Given the description of an element on the screen output the (x, y) to click on. 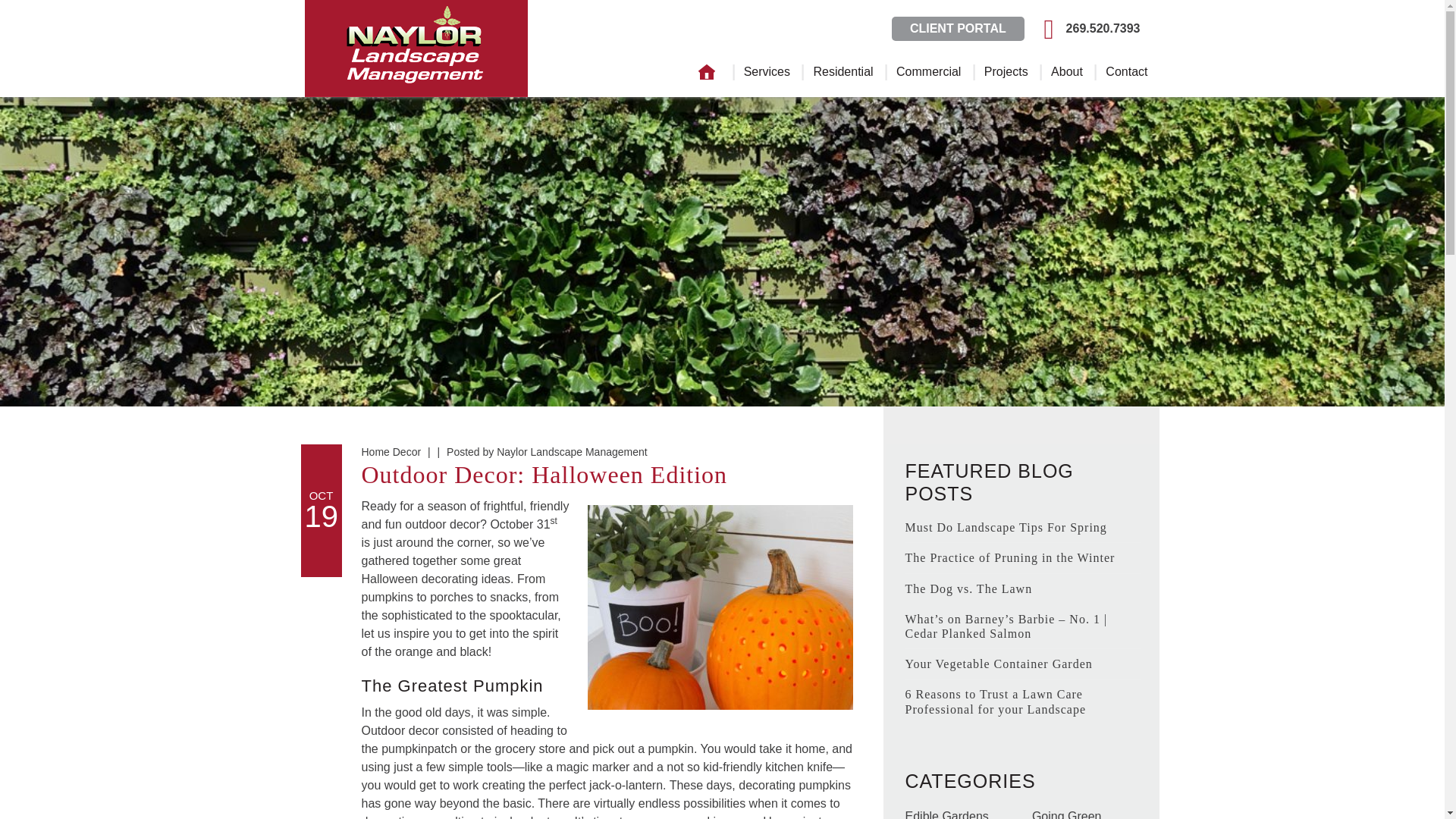
Contact (1126, 72)
Home (706, 72)
Projects (1005, 72)
About (1066, 72)
Naylor Landscape Management (415, 48)
Residential (842, 72)
CLIENT PORTAL (961, 28)
Naylor Landscape Management (571, 451)
Commercial (928, 72)
Services (767, 72)
269.520.7393 (1087, 29)
Home Decor (390, 451)
